Given the description of an element on the screen output the (x, y) to click on. 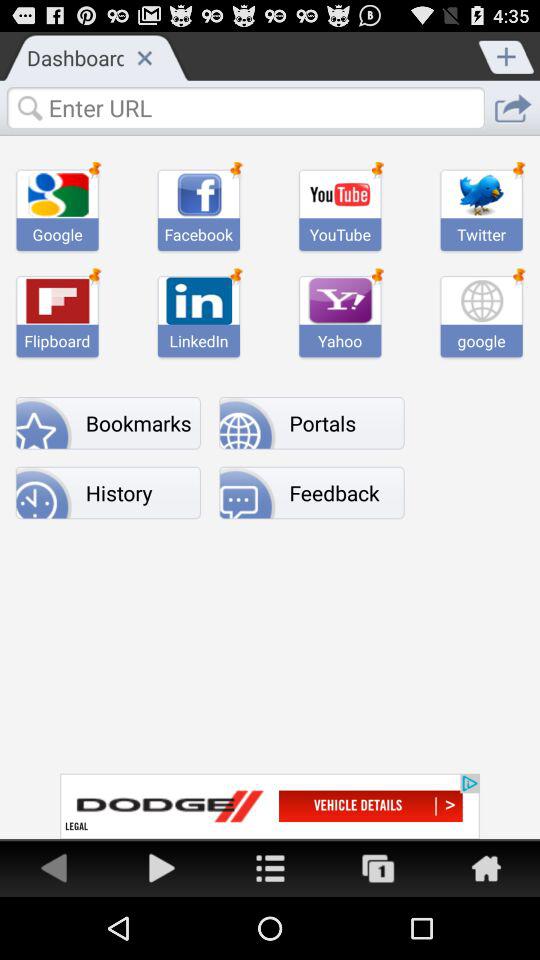
go to home page (270, 867)
